Given the description of an element on the screen output the (x, y) to click on. 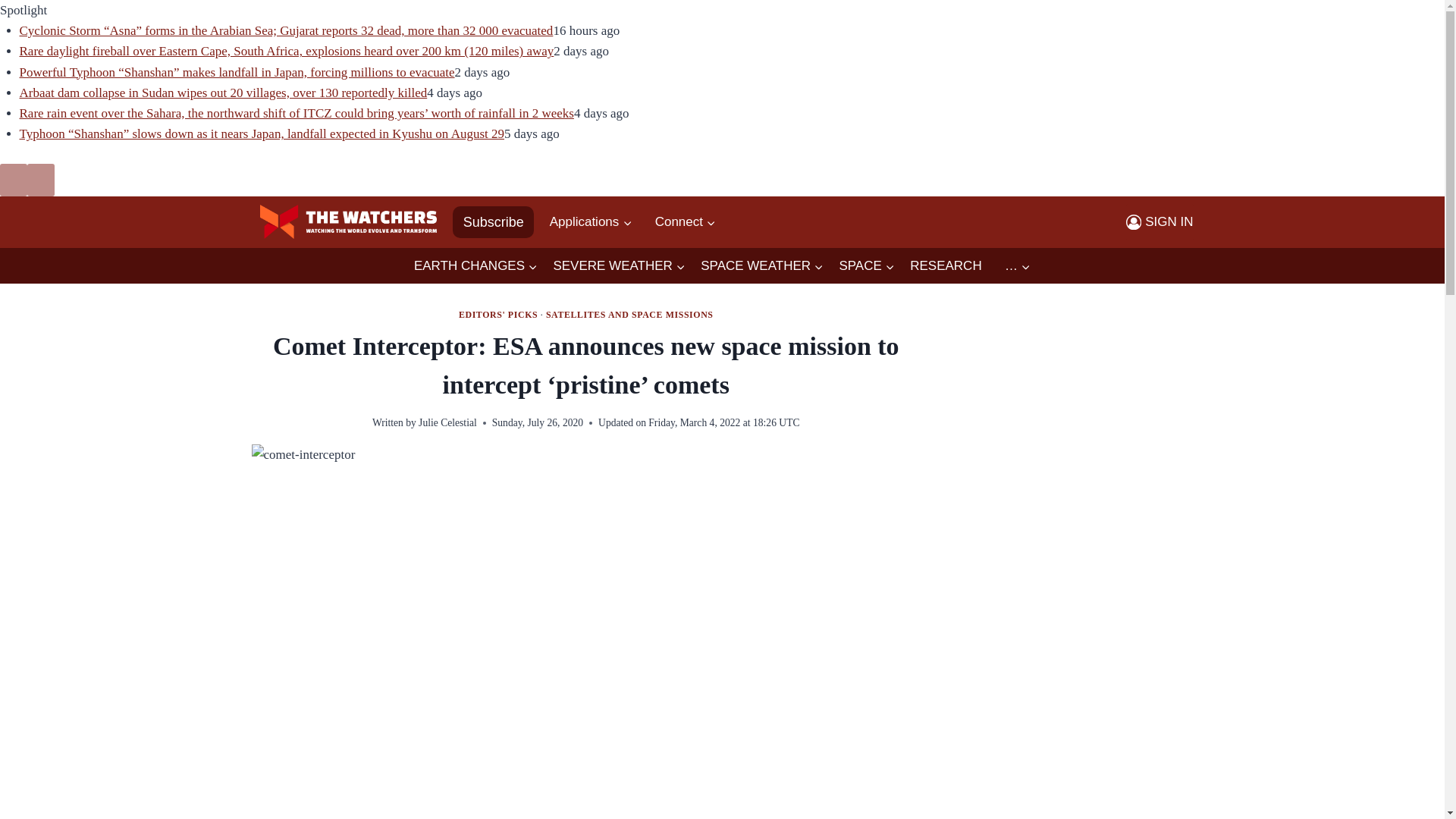
Connect (685, 221)
Applications (590, 221)
EARTH CHANGES (475, 266)
Subscribe (493, 222)
SIGN IN (1159, 221)
